Given the description of an element on the screen output the (x, y) to click on. 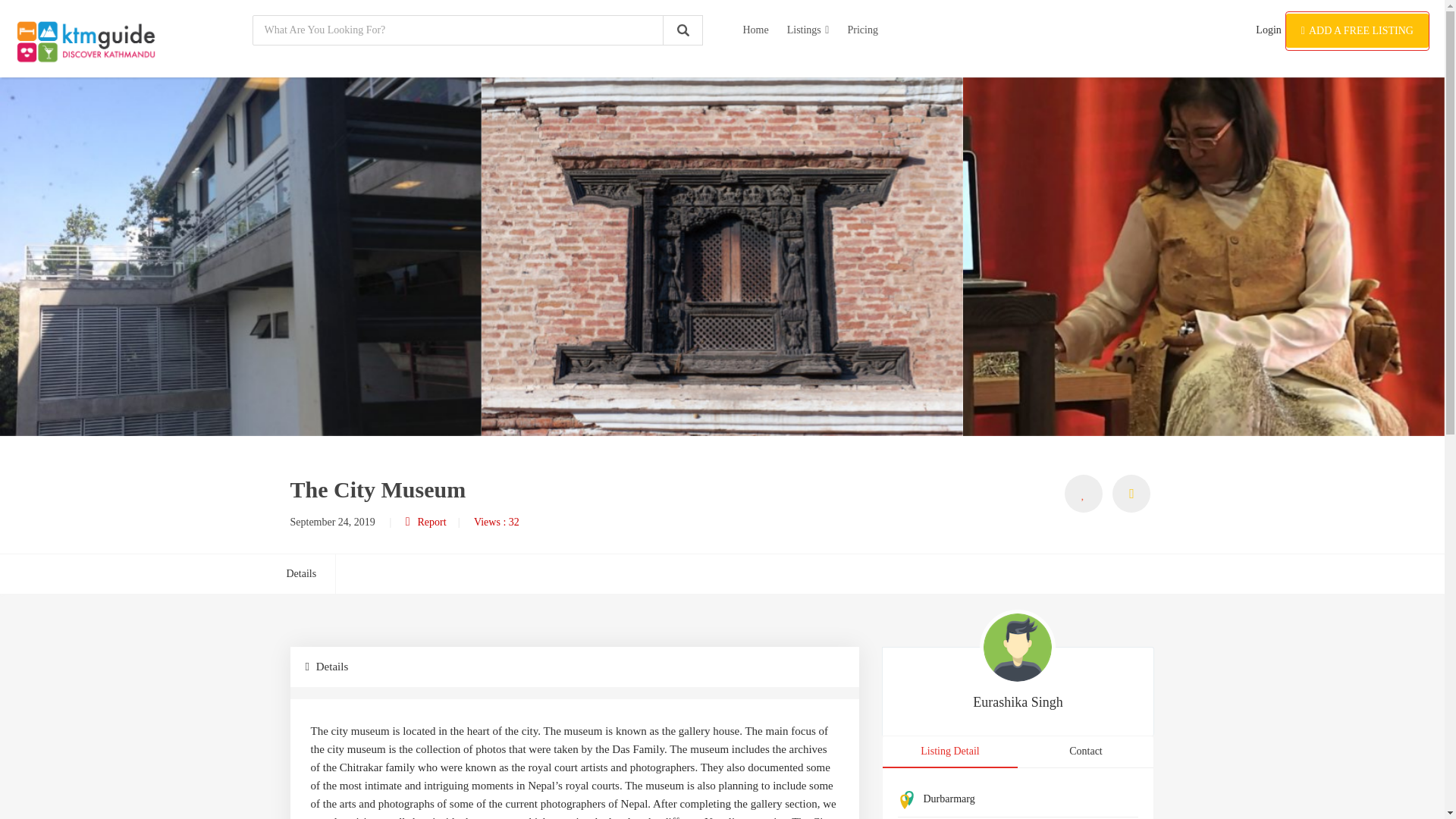
Report (426, 521)
Details (574, 667)
Login (1268, 30)
Details (311, 573)
Contact (1085, 751)
Views : 32 (496, 521)
ADD A FREE LISTING (1356, 30)
Eurashika Singh (1017, 702)
Home (755, 30)
Pricing (862, 30)
Listing Detail (949, 752)
Details (311, 573)
Listings (807, 30)
Report this listing (1131, 493)
Durbarmarg (949, 798)
